Given the description of an element on the screen output the (x, y) to click on. 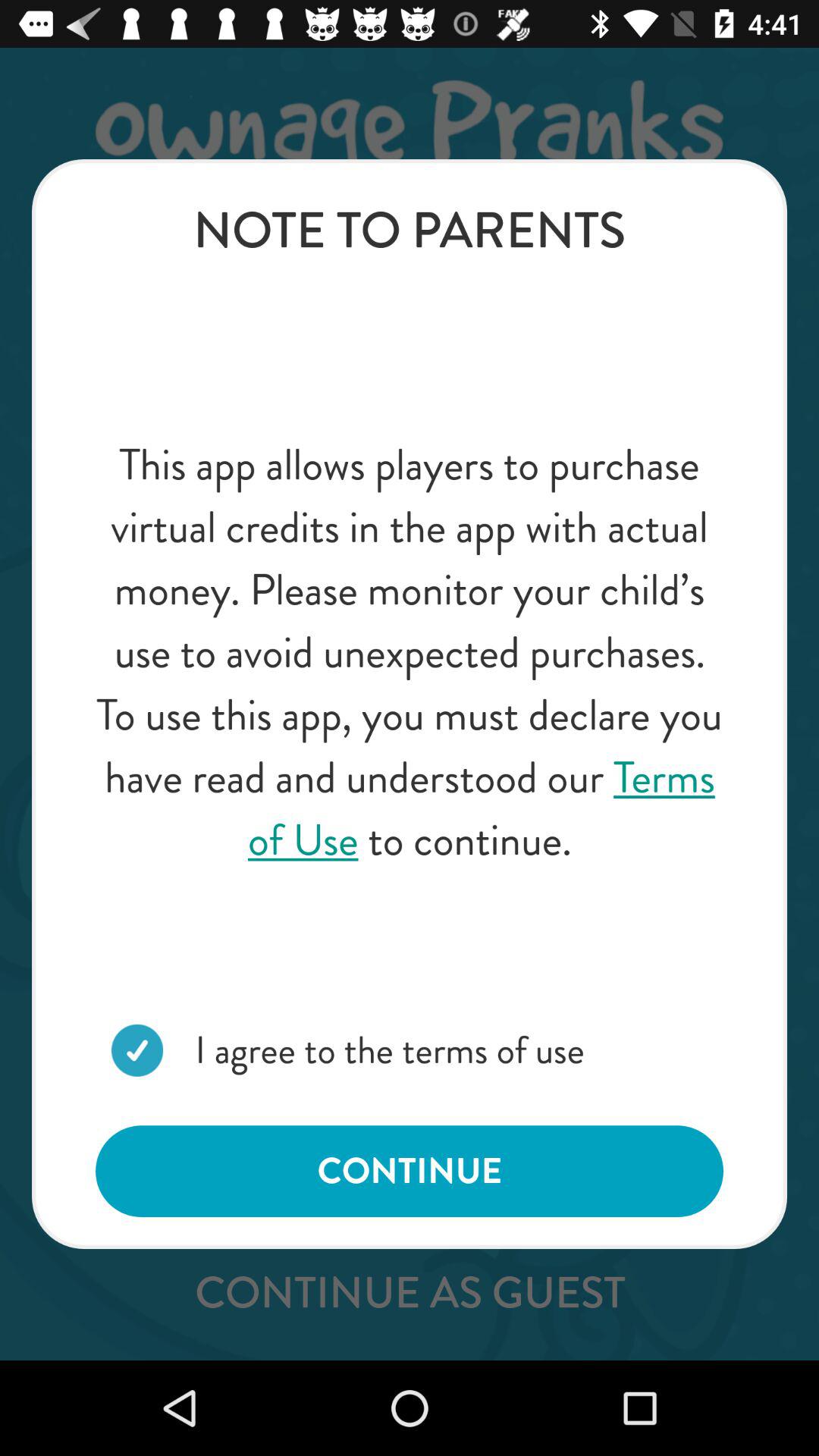
press the item at the center (409, 652)
